Given the description of an element on the screen output the (x, y) to click on. 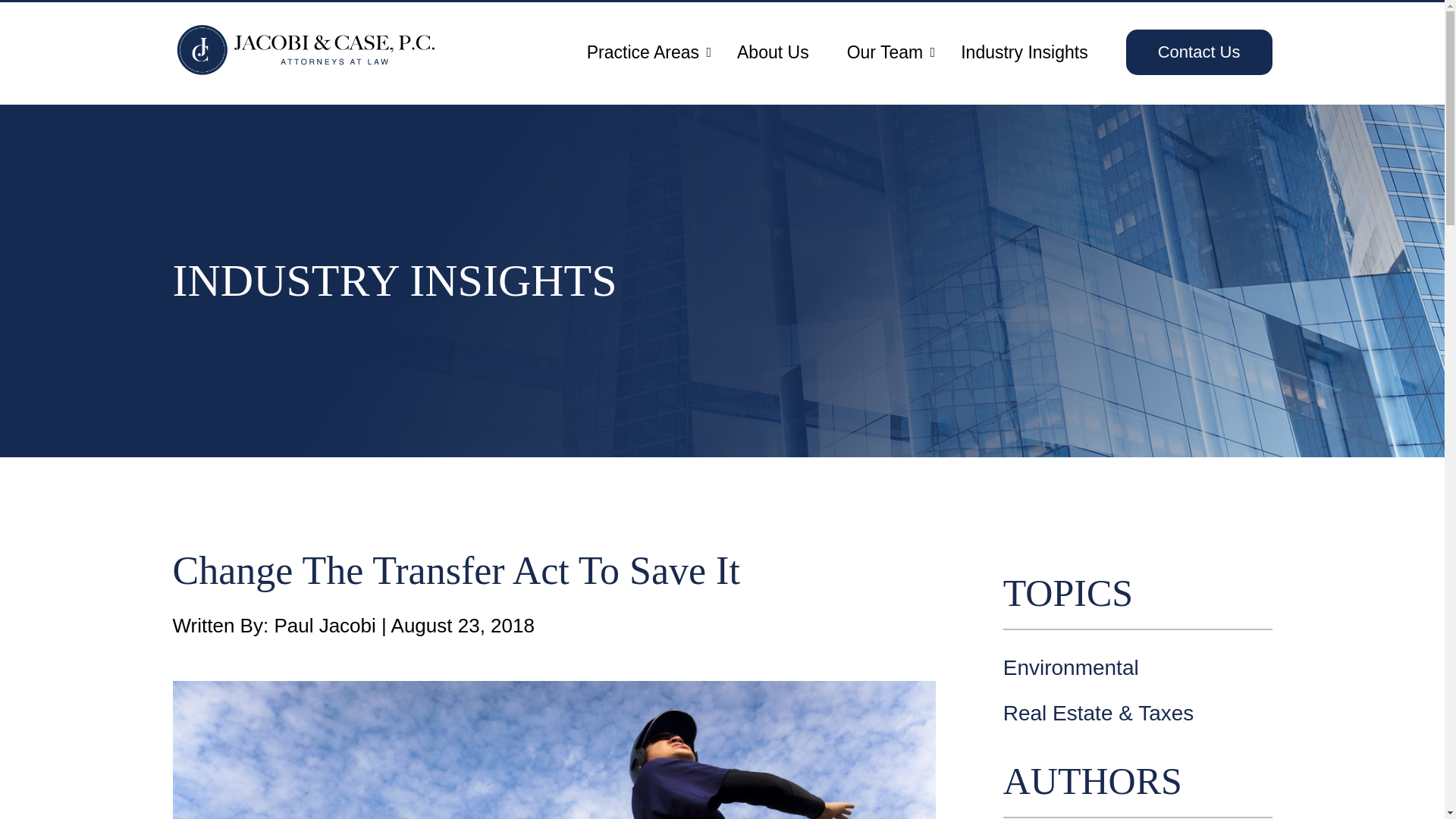
Practice Areas (642, 52)
Environmental (1137, 668)
Industry Insights (1023, 52)
Contact Us (1198, 52)
